Given the description of an element on the screen output the (x, y) to click on. 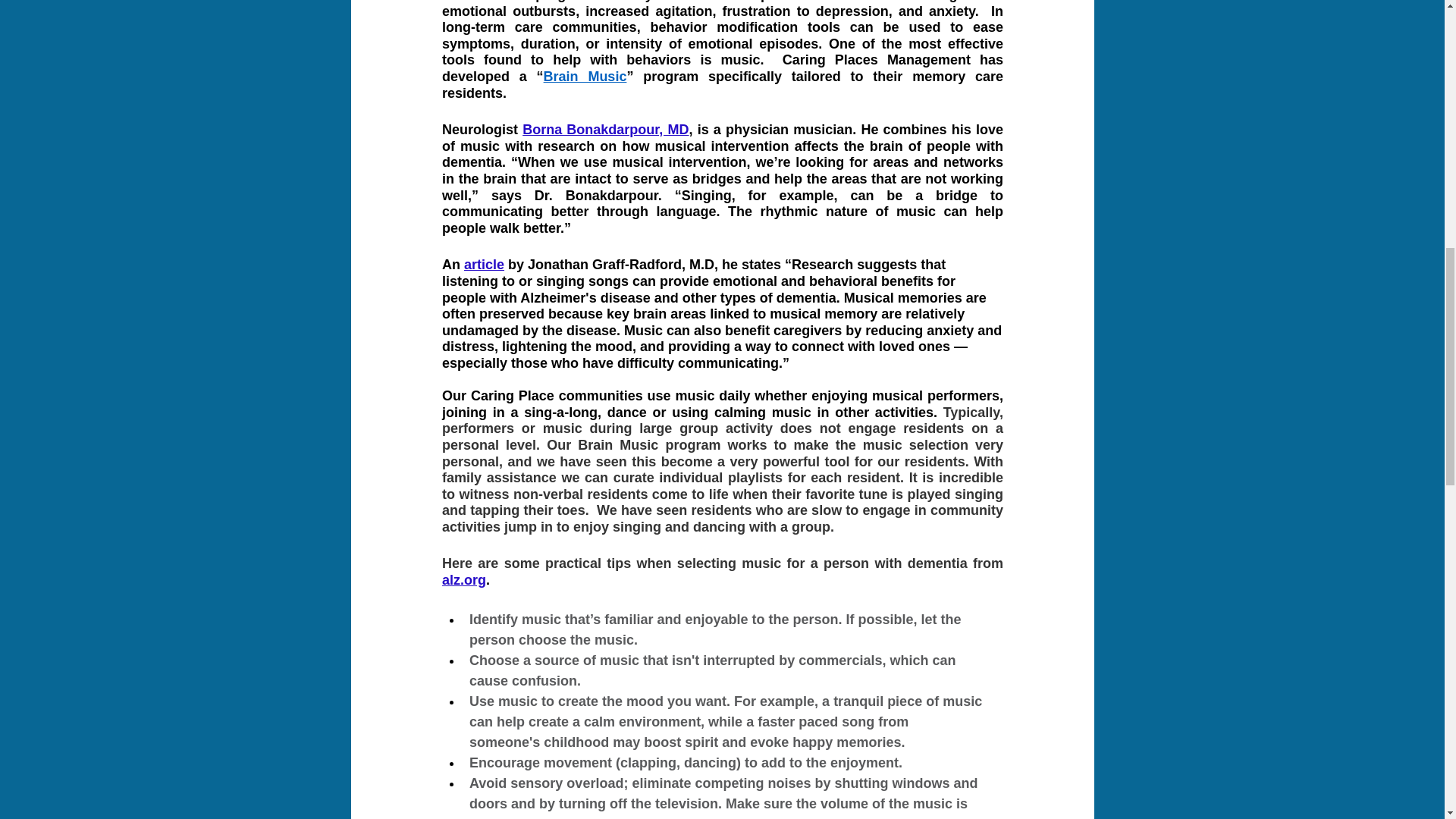
Brain Music (584, 76)
article (483, 264)
Borna Bonakdarpour, MD (605, 129)
alz.org (462, 580)
